Given the description of an element on the screen output the (x, y) to click on. 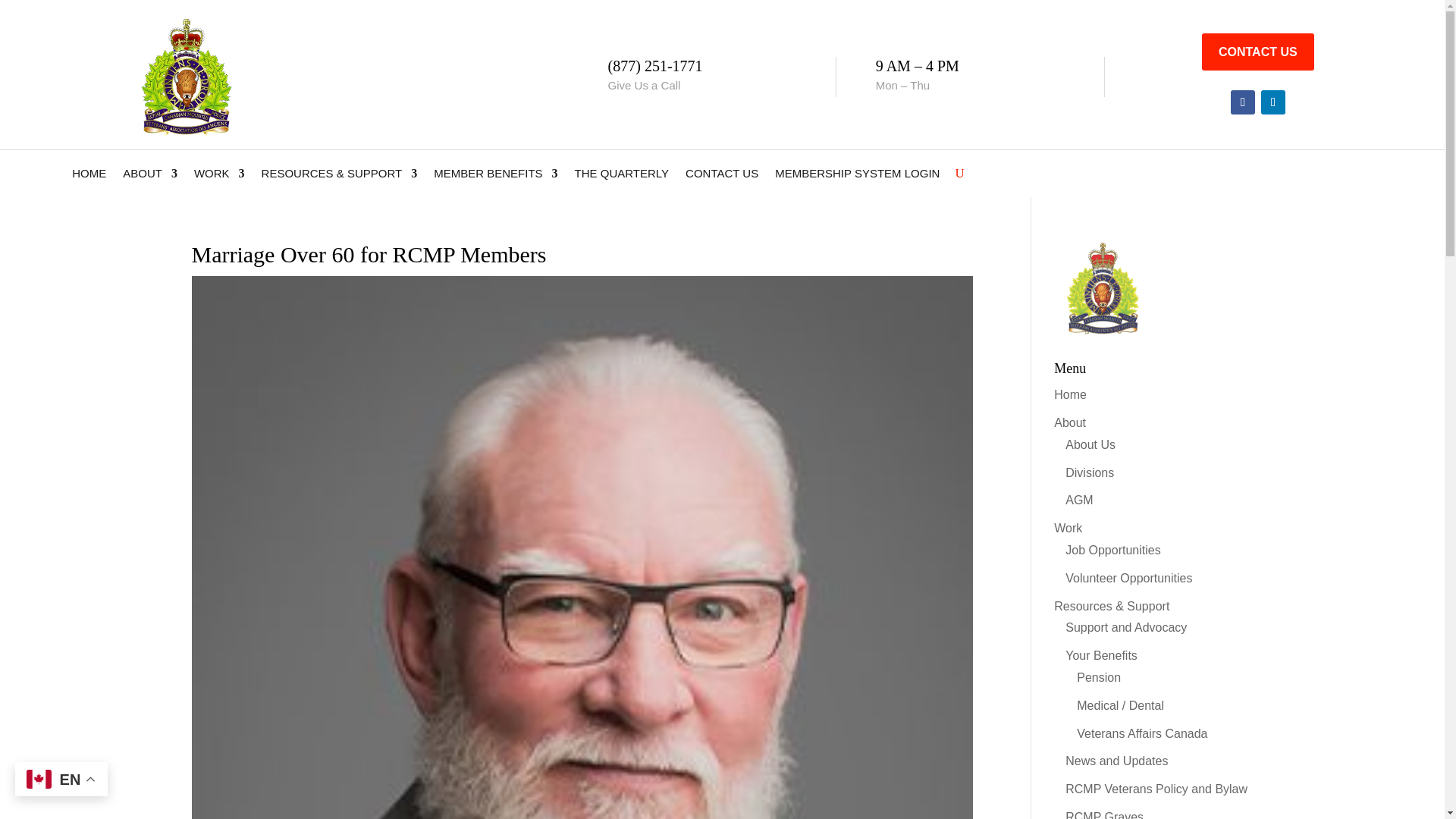
Follow on Facebook (1242, 102)
Follow on LinkedIn (1272, 102)
